Given the description of an element on the screen output the (x, y) to click on. 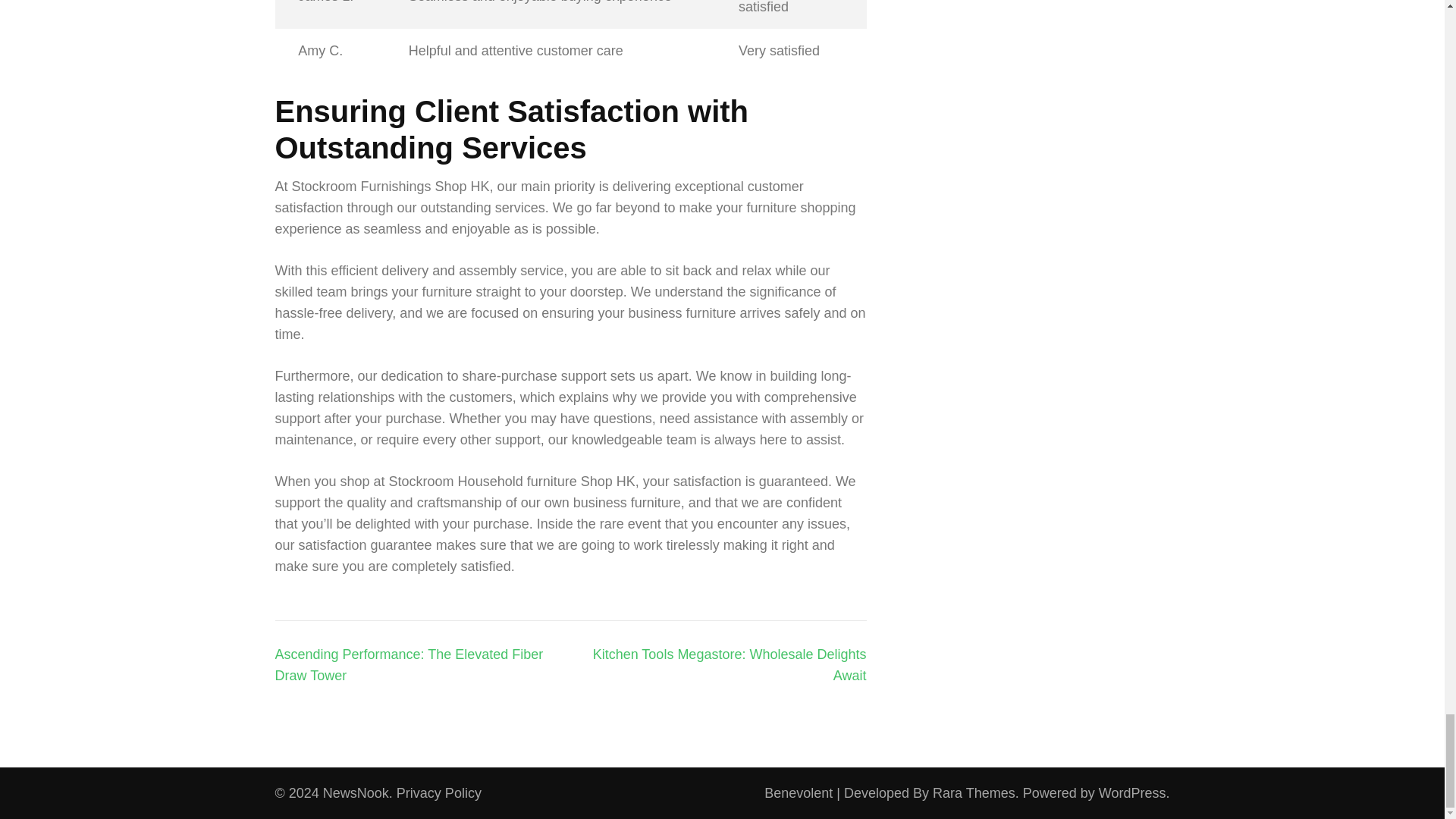
Kitchen Tools Megastore: Wholesale Delights Await (729, 665)
Ascending Performance: The Elevated Fiber Draw Tower (409, 665)
